Given the description of an element on the screen output the (x, y) to click on. 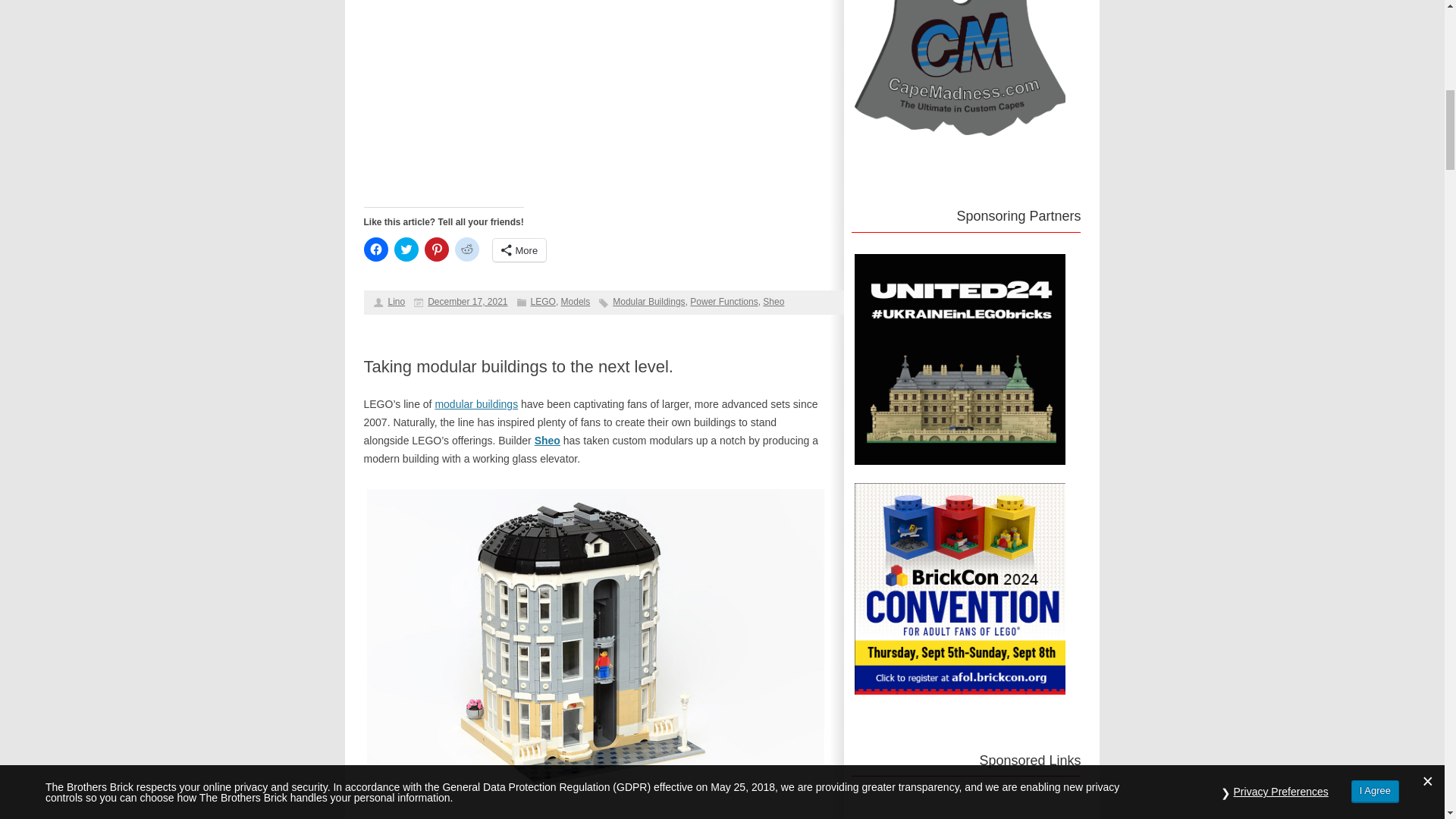
Click to share on Twitter (406, 249)
Click to share on Facebook (376, 249)
